Given the description of an element on the screen output the (x, y) to click on. 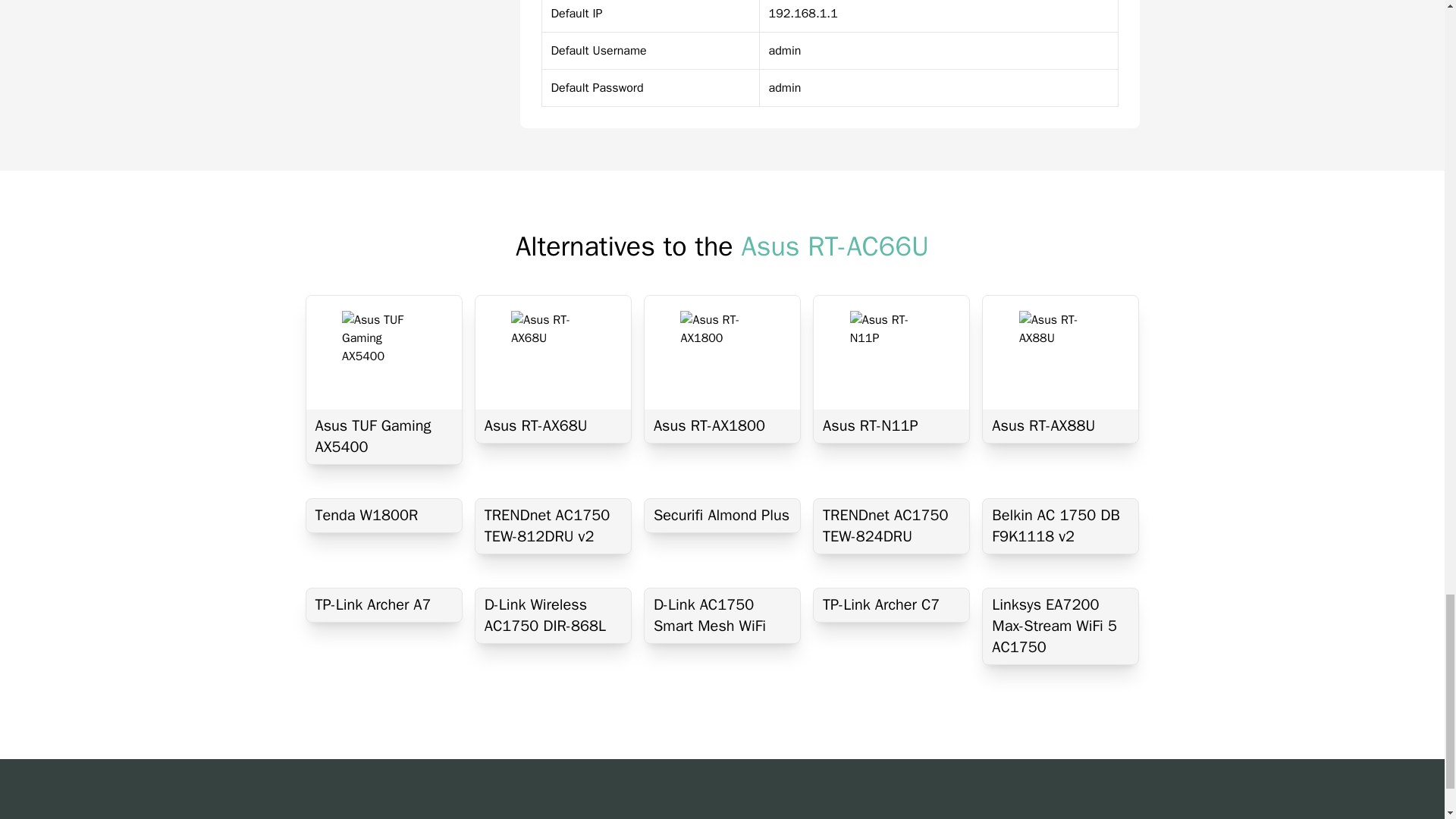
Securifi Almond Plus (722, 515)
Asus RT-AX1800 (722, 426)
Linksys EA7200 Max-Stream WiFi 5 AC1750 (1060, 626)
TRENDnet AC1750 TEW-824DRU (891, 525)
Asus RT-AX88U (1060, 426)
Asus TUF Gaming AX5400 (383, 436)
Belkin AC 1750 DB F9K1118 v2 (1060, 525)
TP-Link Archer A7 (383, 604)
Asus RT-N11P (891, 426)
TRENDnet AC1750 TEW-812DRU v2 (553, 525)
